Given the description of an element on the screen output the (x, y) to click on. 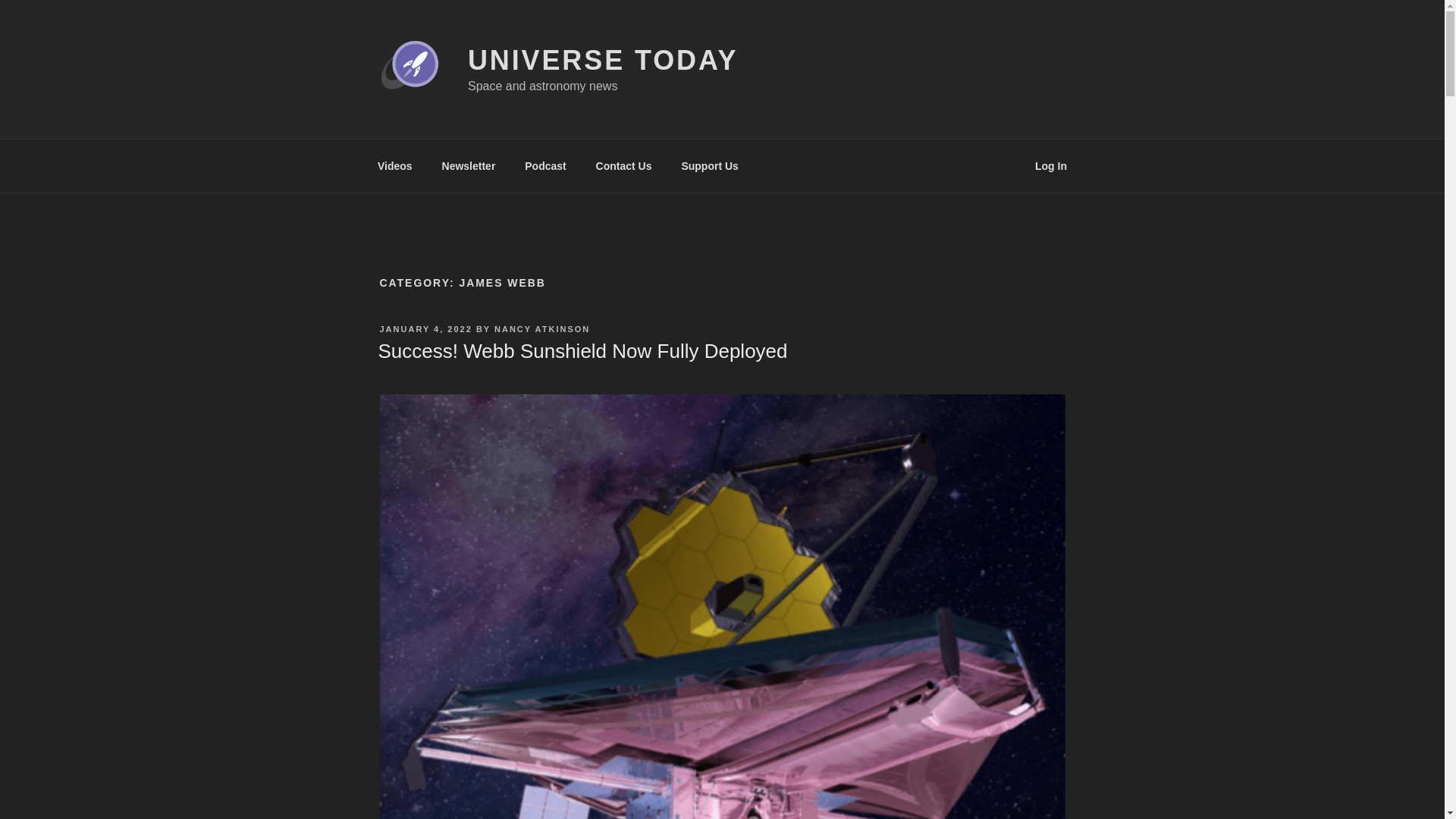
Videos (394, 165)
JANUARY 4, 2022 (424, 328)
UNIVERSE TODAY (602, 60)
Support Us (709, 165)
Newsletter (468, 165)
NANCY ATKINSON (542, 328)
Log In (1051, 165)
Contact Us (623, 165)
Success! Webb Sunshield Now Fully Deployed (582, 350)
Podcast (545, 165)
